Given the description of an element on the screen output the (x, y) to click on. 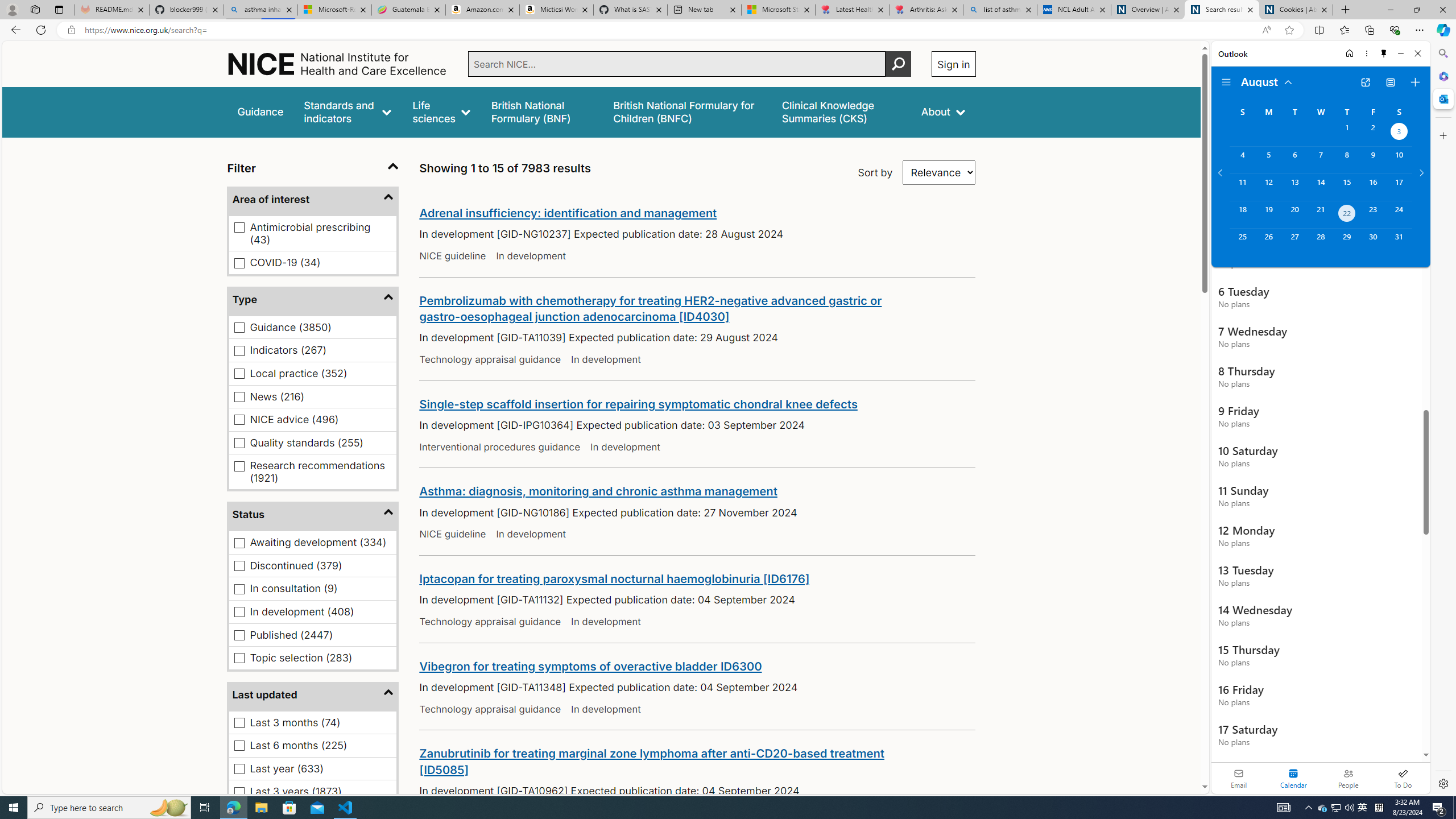
Sort by (938, 172)
To Do (1402, 777)
Monday, August 12, 2024.  (1268, 186)
asthma inhaler - Search (260, 9)
Filter (312, 168)
